Given the description of an element on the screen output the (x, y) to click on. 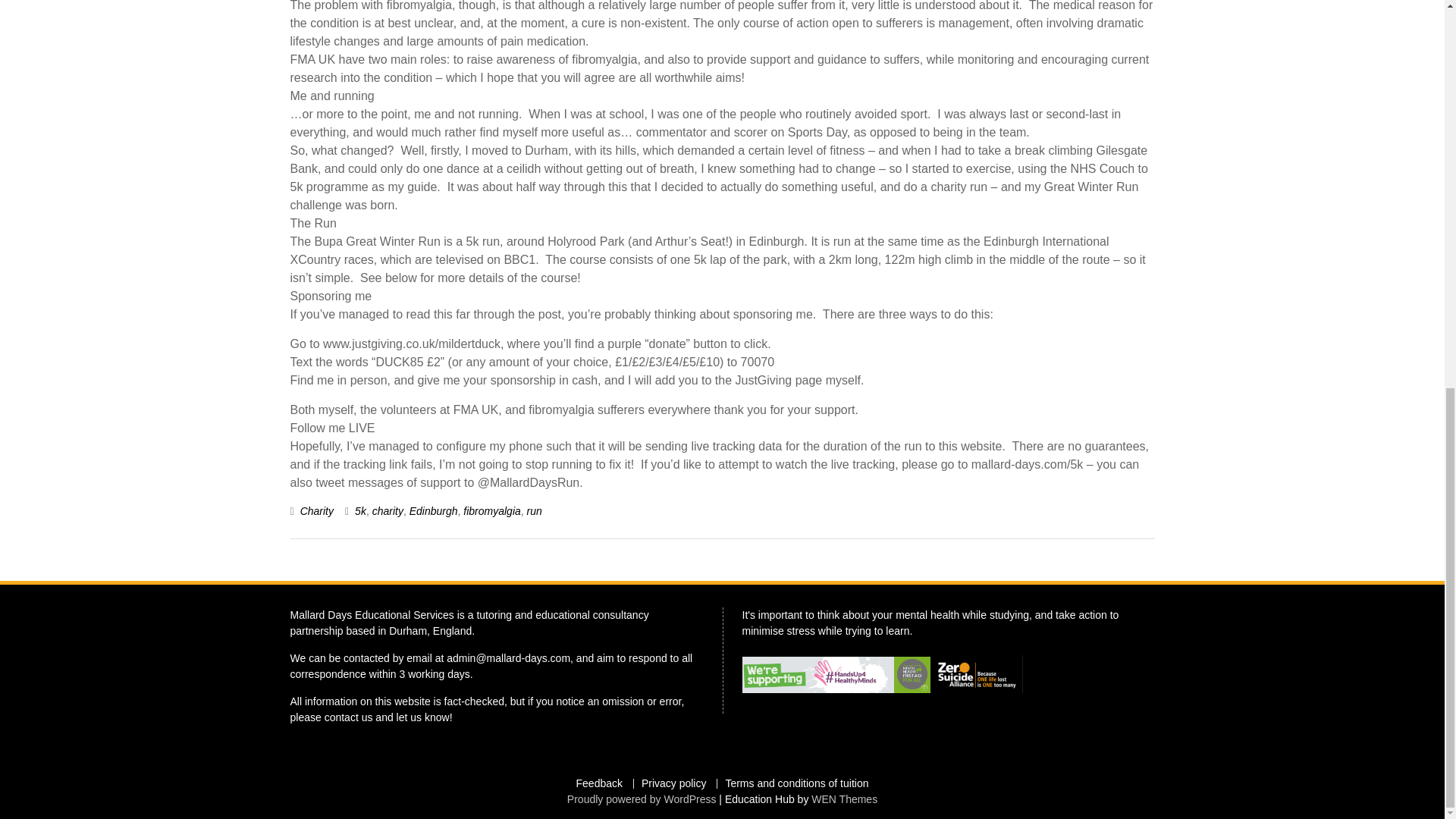
5k (360, 510)
WEN Themes (843, 799)
Edinburgh (433, 510)
Proudly powered by WordPress (641, 799)
Privacy policy (673, 783)
Terms and conditions of tuition (796, 783)
Feedback (599, 783)
charity (387, 510)
run (534, 510)
Charity (316, 510)
fibromyalgia (491, 510)
